Given the description of an element on the screen output the (x, y) to click on. 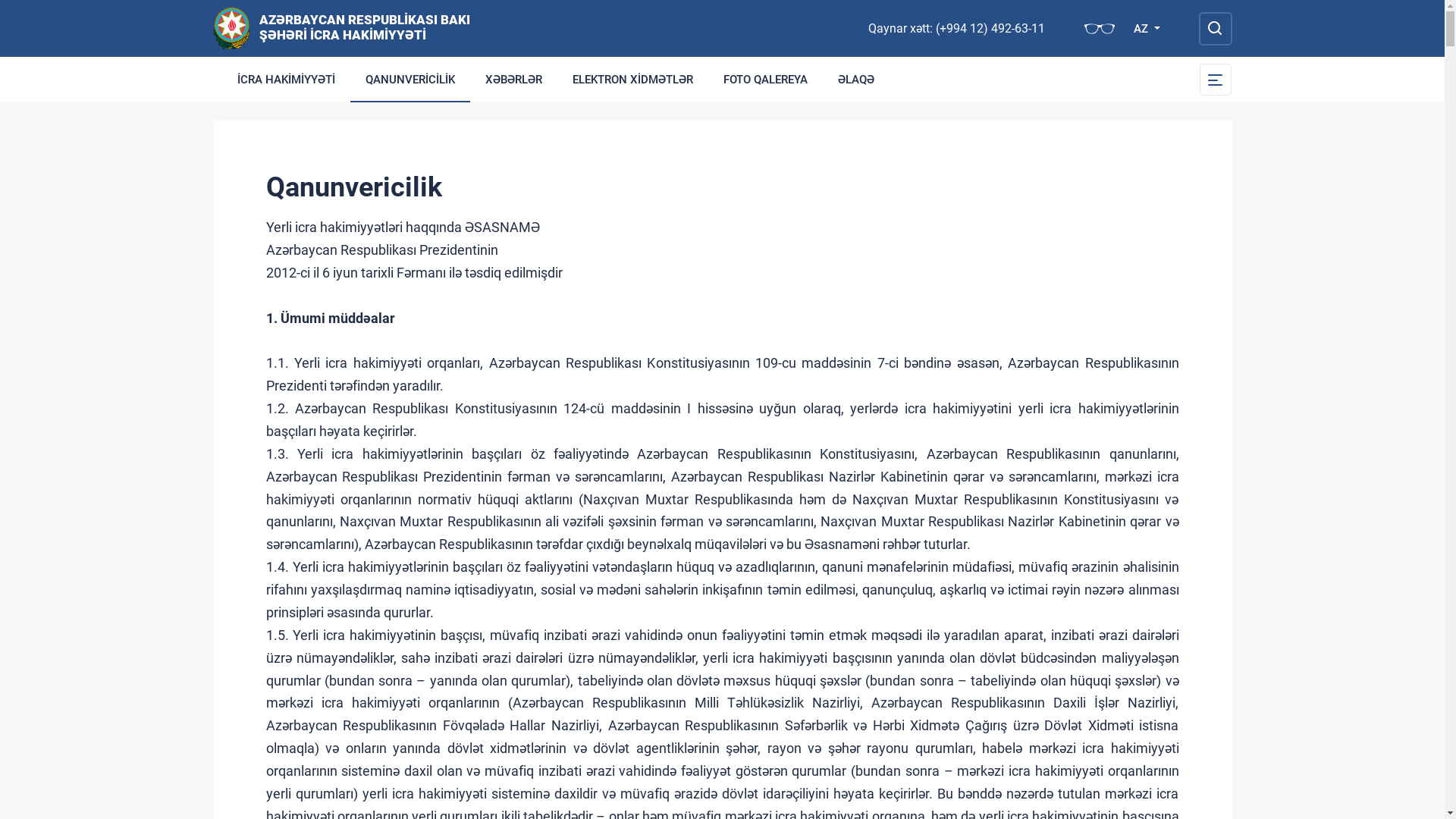
FOTO QALEREYA Element type: text (765, 79)
QANUNVERICILIK Element type: text (410, 79)
AZ Element type: text (1146, 28)
